Given the description of an element on the screen output the (x, y) to click on. 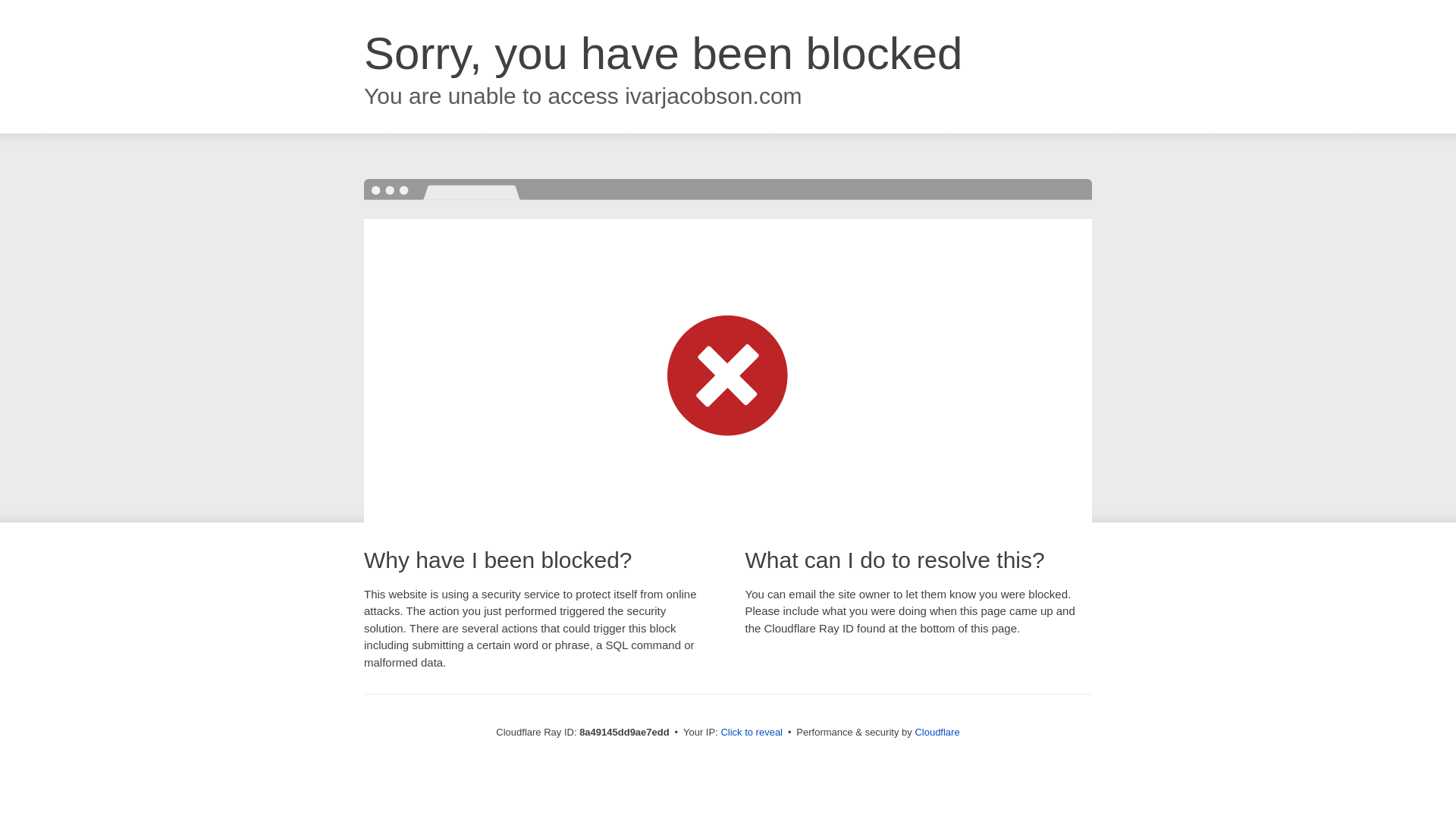
Click to reveal (751, 732)
Cloudflare (936, 731)
